Given the description of an element on the screen output the (x, y) to click on. 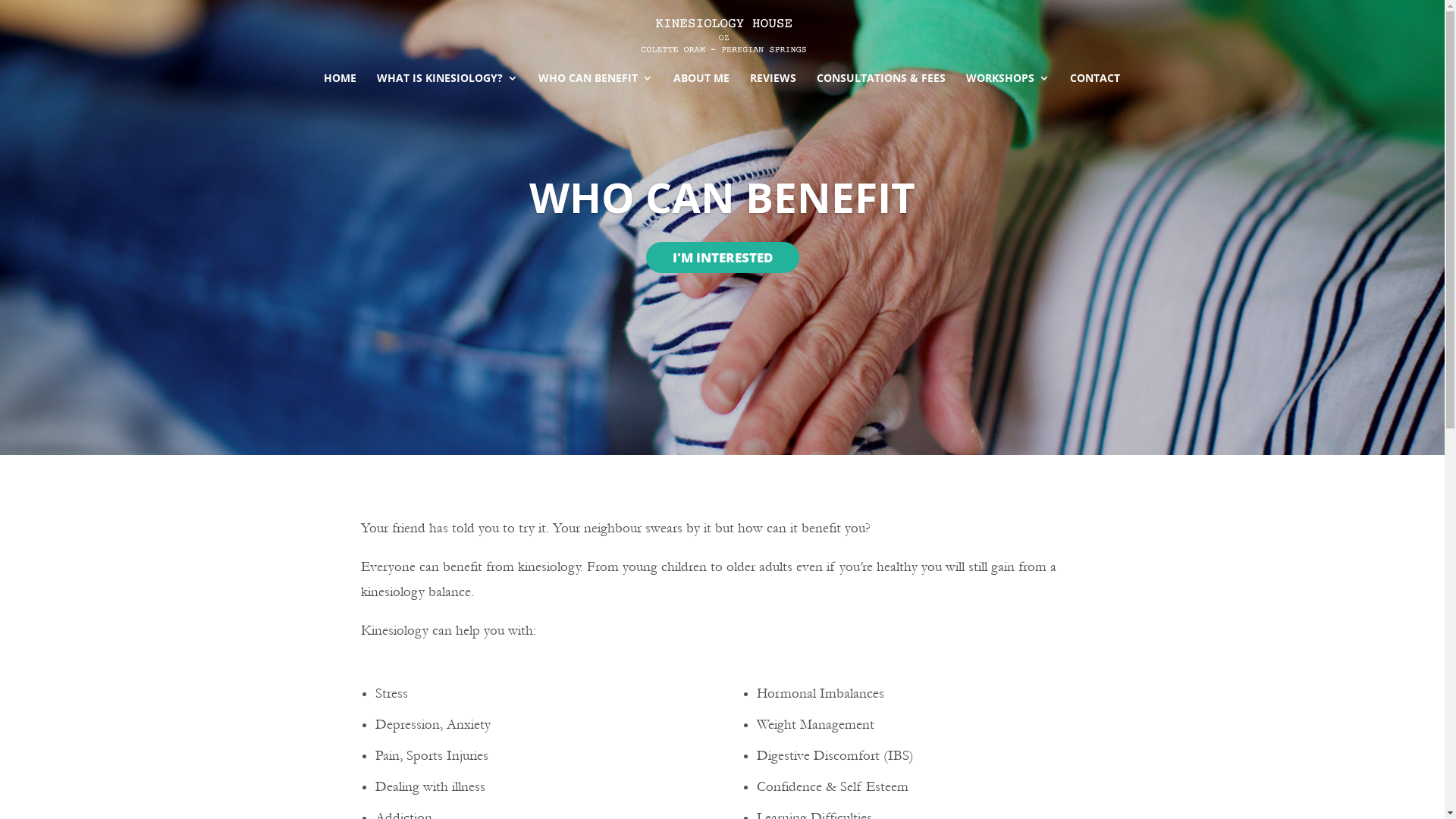
ABOUT ME Element type: text (701, 83)
HOME Element type: text (339, 83)
WHO CAN BENEFIT Element type: text (595, 83)
WHAT IS KINESIOLOGY? Element type: text (446, 83)
WORKSHOPS Element type: text (1007, 83)
REVIEWS Element type: text (772, 83)
CONTACT Element type: text (1094, 83)
CONSULTATIONS & FEES Element type: text (879, 83)
